Given the description of an element on the screen output the (x, y) to click on. 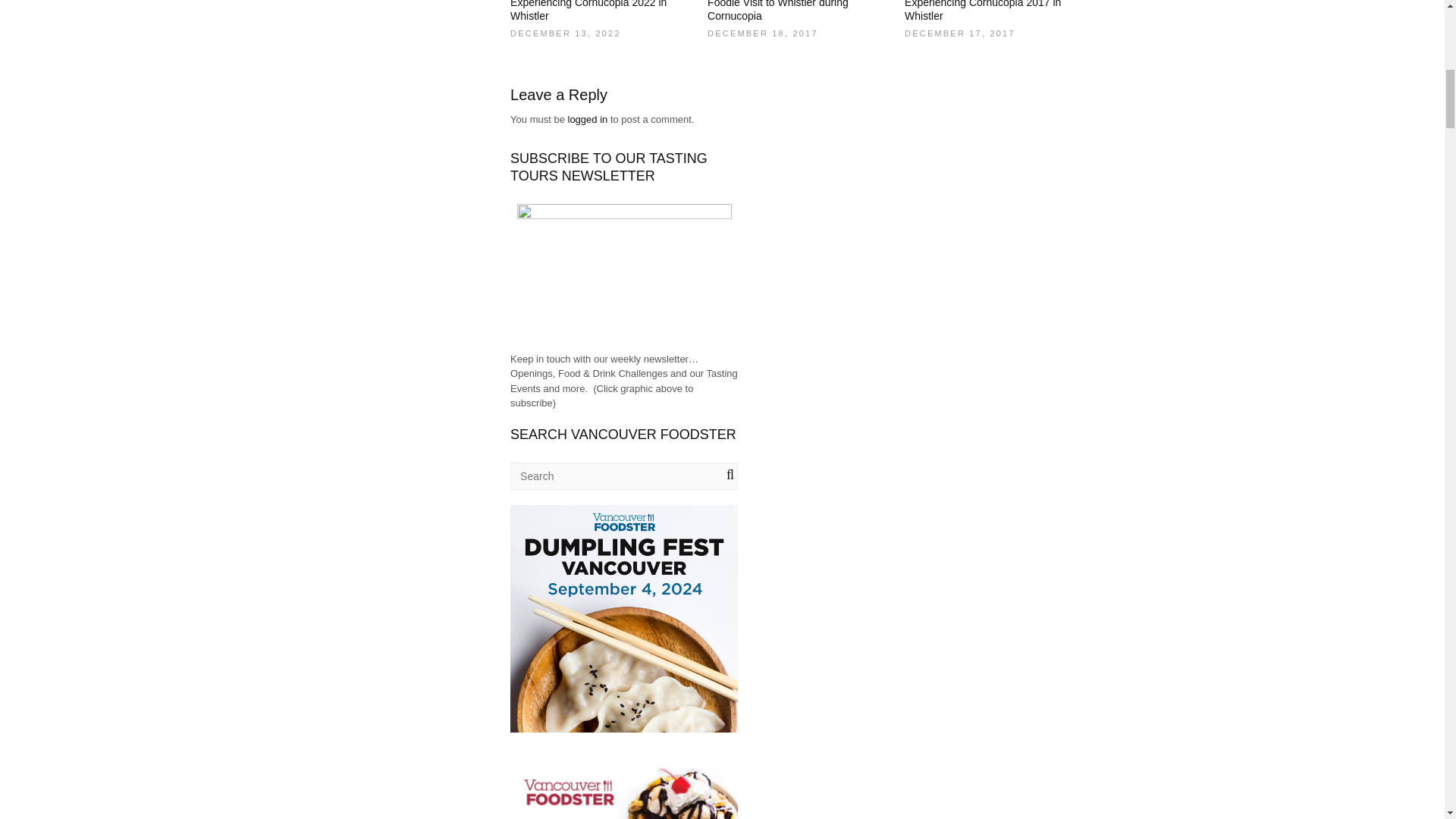
Foodie Visit to Whistler during Cornucopia (777, 11)
Experiencing Cornucopia 2022 in Whistler (588, 11)
logged in (587, 119)
Experiencing Cornucopia 2017 in Whistler (982, 11)
